Given the description of an element on the screen output the (x, y) to click on. 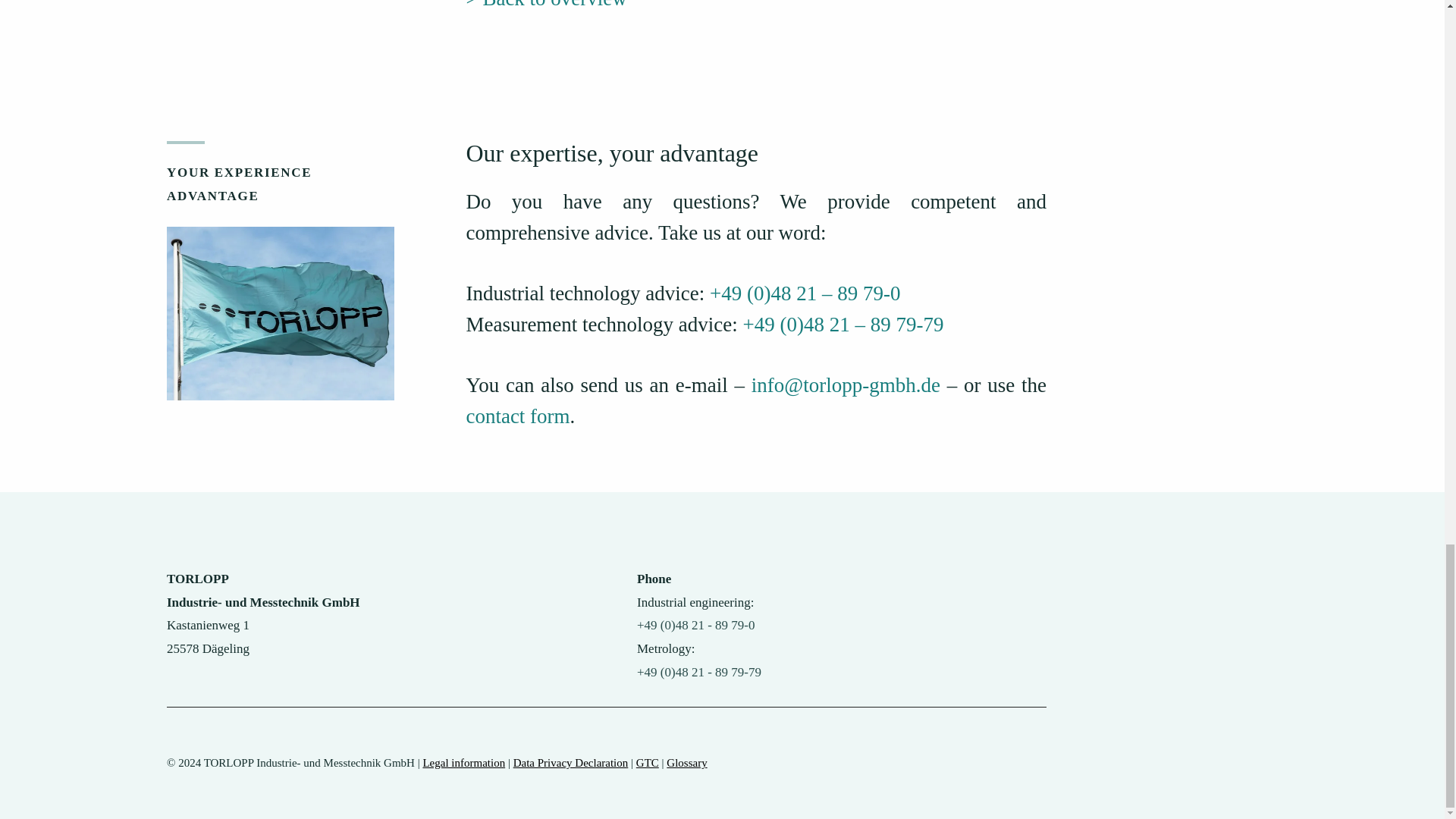
torlopp-gmbh (280, 313)
